Given the description of an element on the screen output the (x, y) to click on. 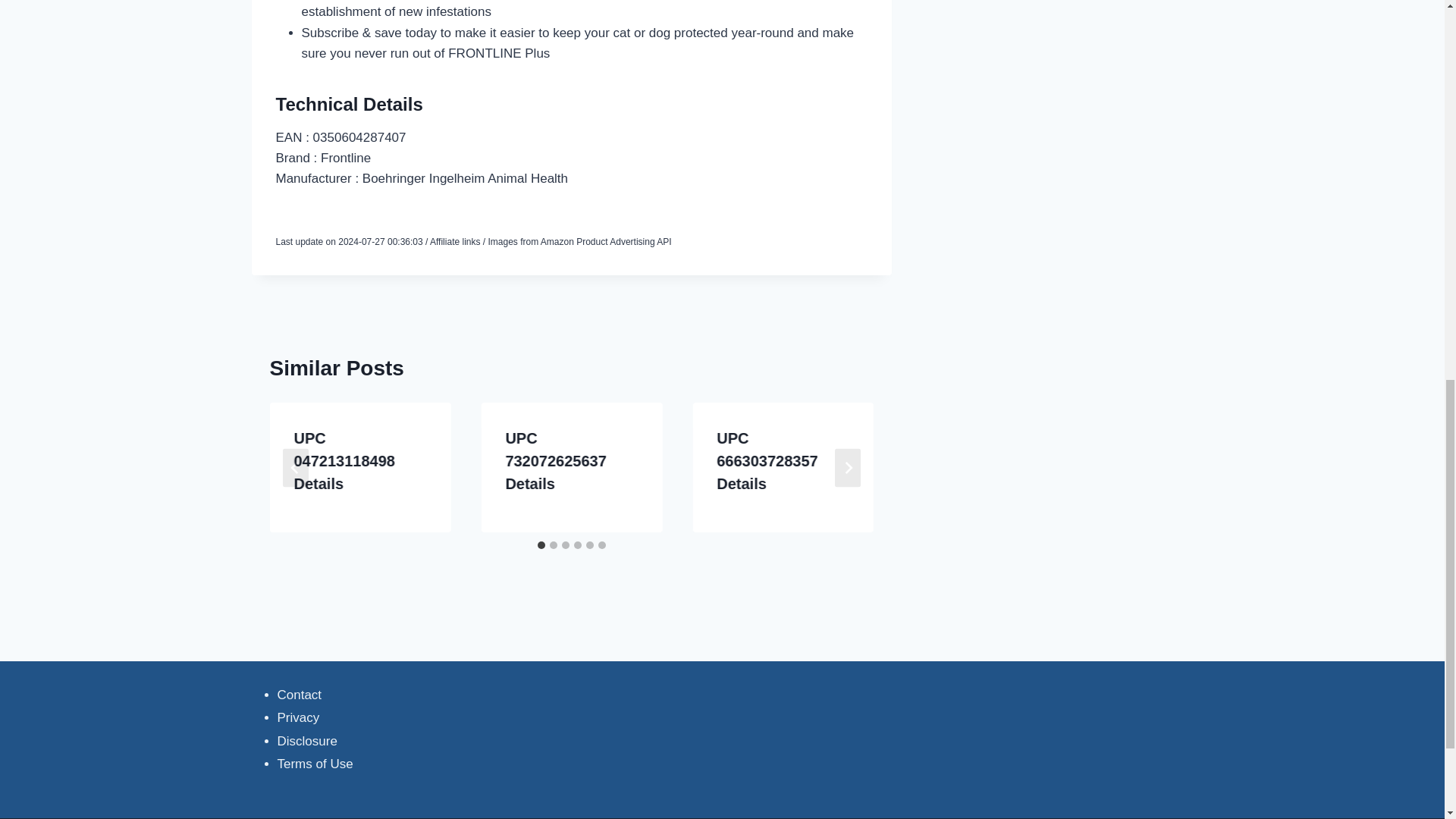
Disclosure (307, 740)
UPC 666303728357 Details (766, 460)
Contact (299, 694)
UPC 732072625637 Details (555, 460)
Privacy (299, 717)
UPC 047213118498 Details (344, 460)
Terms of Use (315, 763)
